Given the description of an element on the screen output the (x, y) to click on. 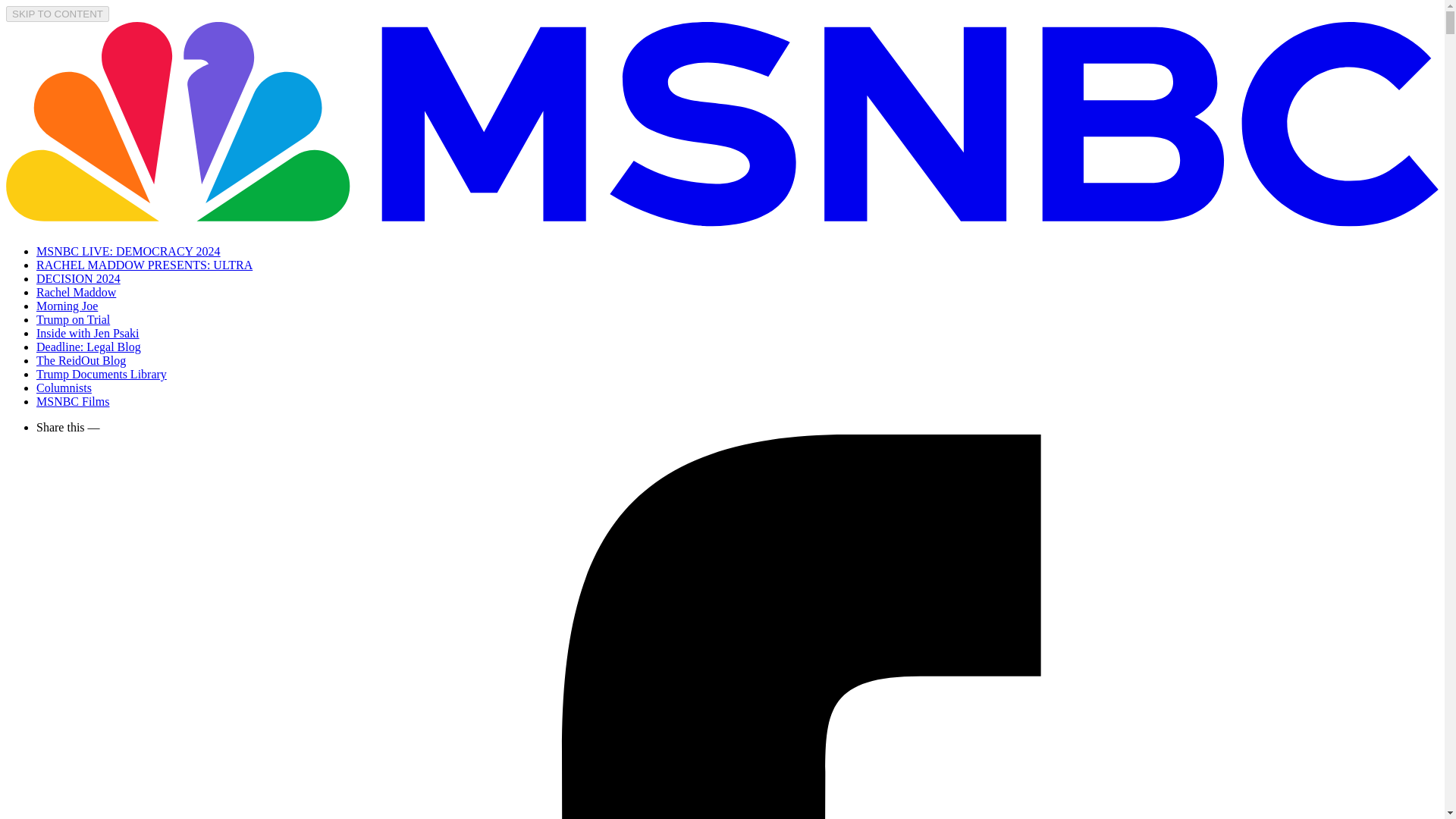
MSNBC Films (72, 400)
The ReidOut Blog (80, 359)
Rachel Maddow (76, 291)
DECISION 2024 (78, 278)
MSNBC LIVE: DEMOCRACY 2024 (128, 250)
Trump on Trial (73, 318)
Trump Documents Library (101, 373)
SKIP TO CONTENT (57, 13)
Inside with Jen Psaki (87, 332)
RACHEL MADDOW PRESENTS: ULTRA (143, 264)
Deadline: Legal Blog (88, 346)
Columnists (63, 387)
Morning Joe (66, 305)
